Given the description of an element on the screen output the (x, y) to click on. 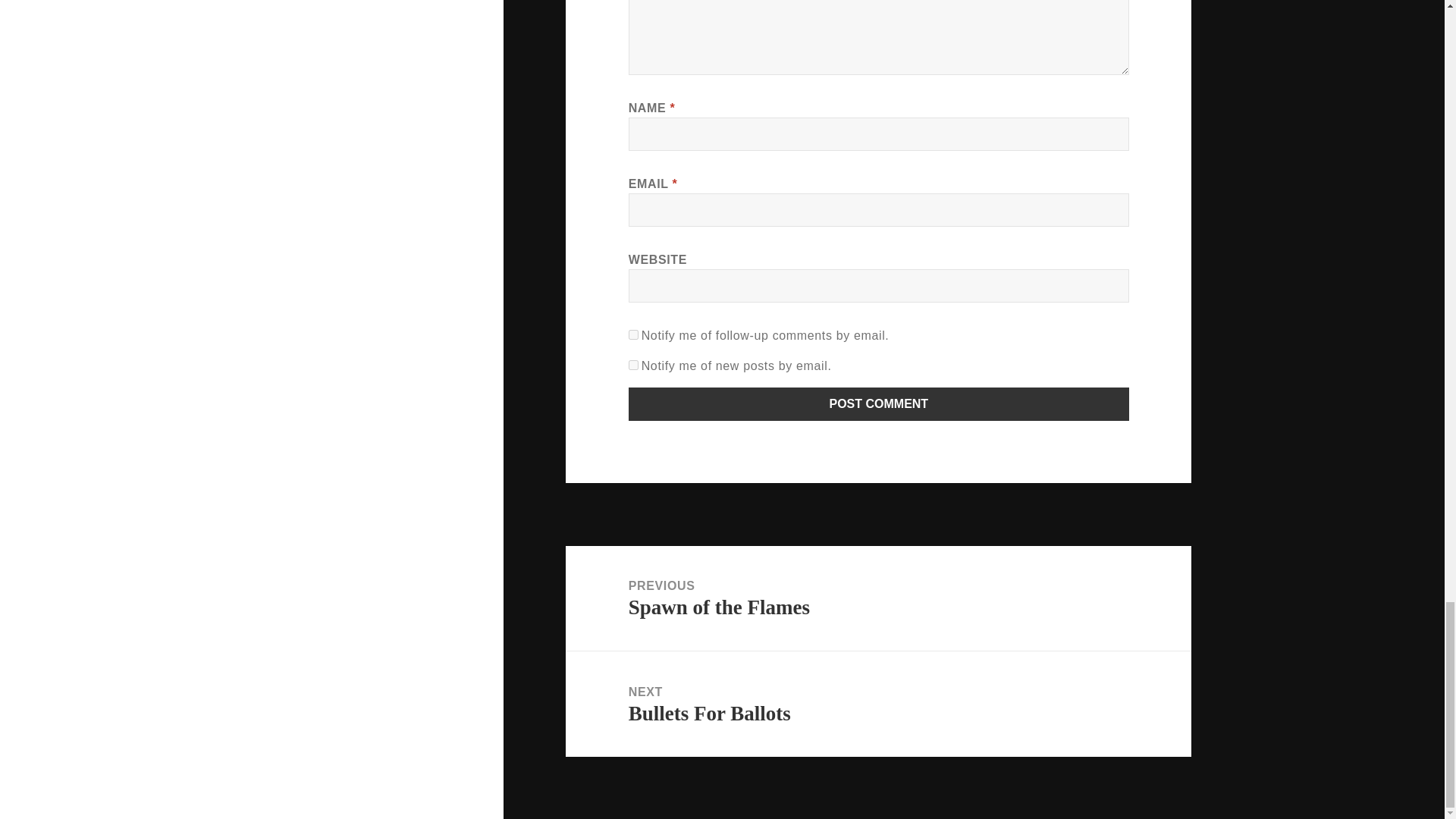
Post Comment (878, 403)
subscribe (633, 365)
subscribe (633, 334)
